Given the description of an element on the screen output the (x, y) to click on. 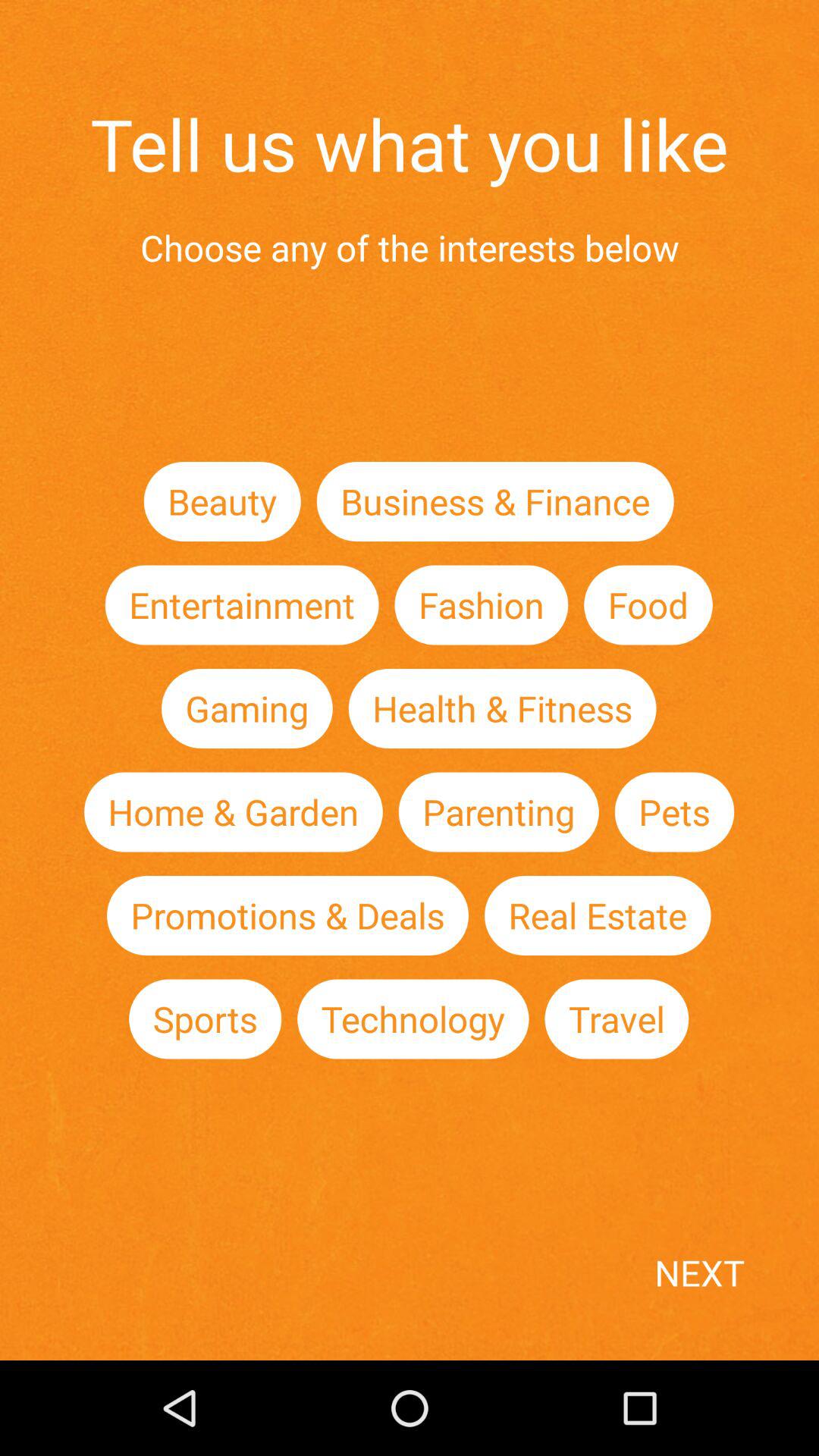
press the entertainment item (241, 604)
